Given the description of an element on the screen output the (x, y) to click on. 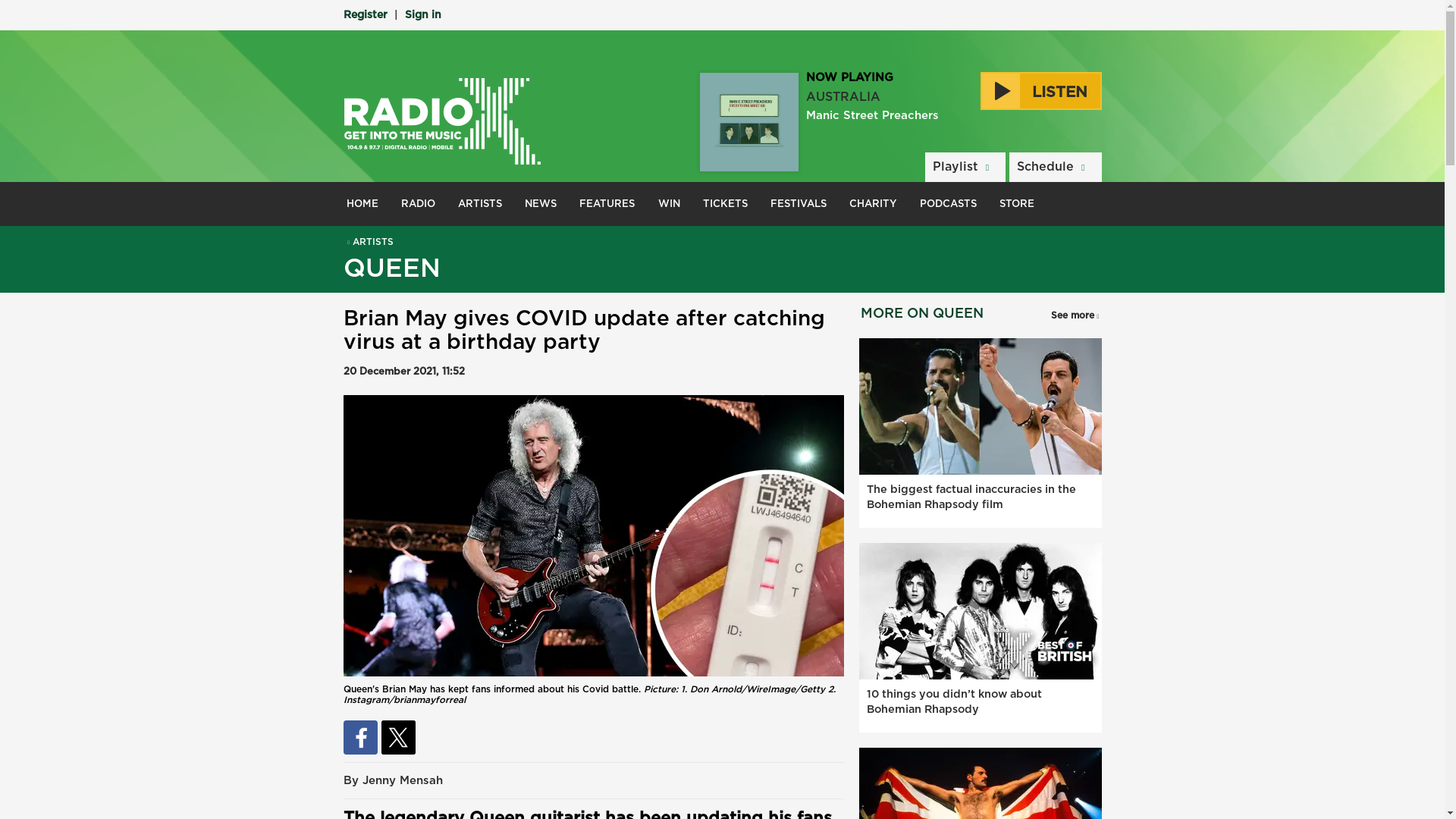
FESTIVALS (798, 203)
WIN (668, 203)
Radio X (441, 120)
LISTEN (1039, 90)
NEWS (540, 203)
FEATURES (606, 203)
Schedule (1054, 166)
Sign in (422, 14)
ARTISTS (367, 241)
CHARITY (873, 203)
TICKETS (724, 203)
PODCASTS (948, 203)
Register (364, 14)
MORE ON QUEEN (921, 314)
